Given the description of an element on the screen output the (x, y) to click on. 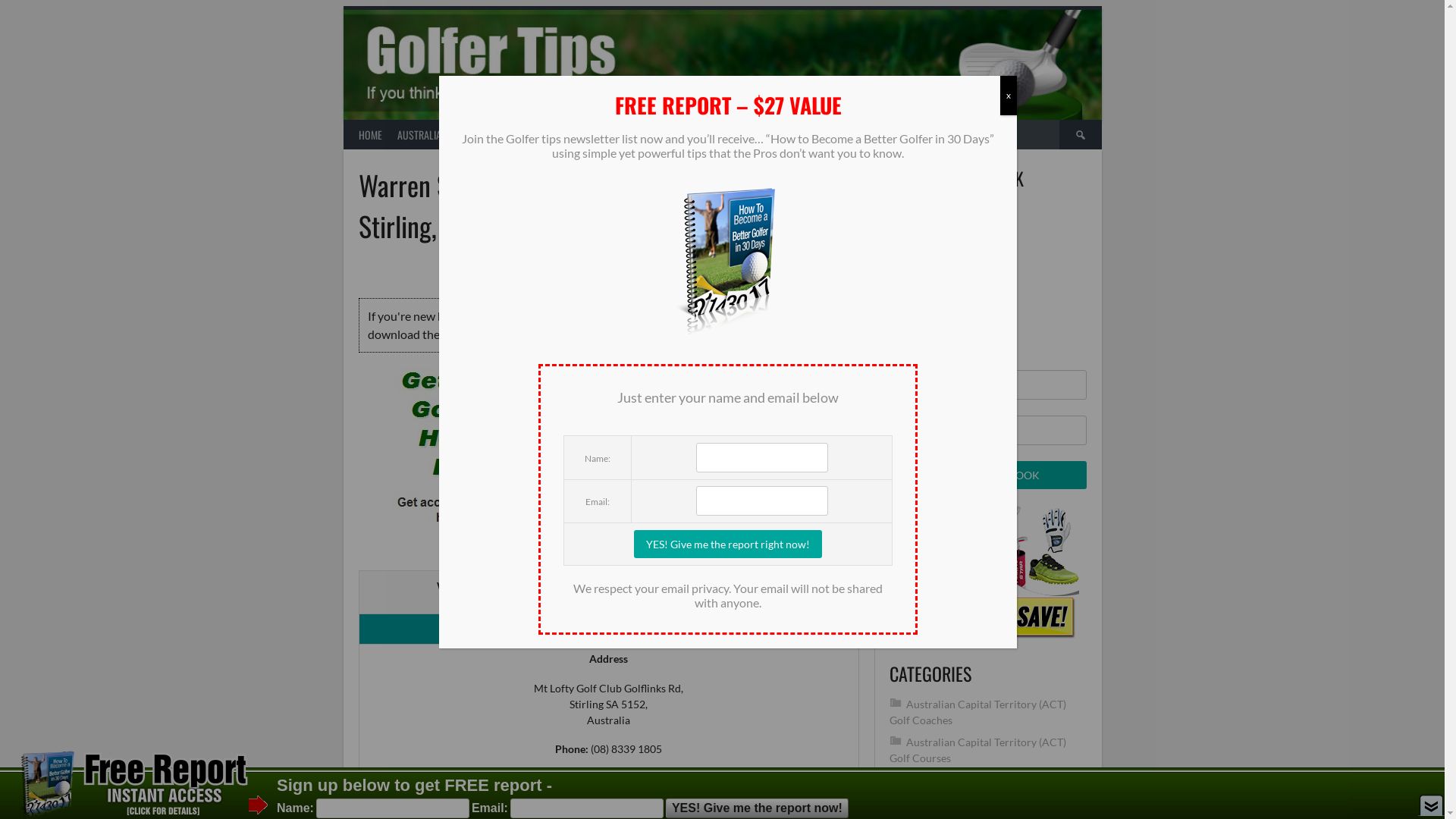
YES! Give me the report right now! Element type: text (727, 544)
Sign up below to get FREE report - Element type: text (414, 784)
Australian Capital Territory (ACT) Golf Coaches Element type: text (977, 711)
YES! Give me the report now! Element type: text (756, 808)
Search Element type: hover (1079, 134)
South Australia Golf Coaches Element type: text (784, 269)
New South Wales Golf Coaches Element type: text (979, 802)
HOME Element type: text (369, 134)
Golfer Tips - Free Golf Tips and Videos Element type: hover (608, 461)
AUSTRALIAN GOLF COURSES Element type: text (578, 134)
x Element type: text (1008, 95)
ABOUT US Element type: text (671, 134)
Australian Capital Territory (ACT) Golf Courses Element type: text (977, 749)
CLAIM FREE E-BOOK Element type: text (986, 475)
AUSTRALIAN GOLF COACHES Element type: text (452, 134)
Golfer Tips - Free Golf Tips and Videos Element type: hover (607, 461)
CONTACT US Element type: text (731, 134)
Golfing Tips Element type: text (934, 779)
